Given the description of an element on the screen output the (x, y) to click on. 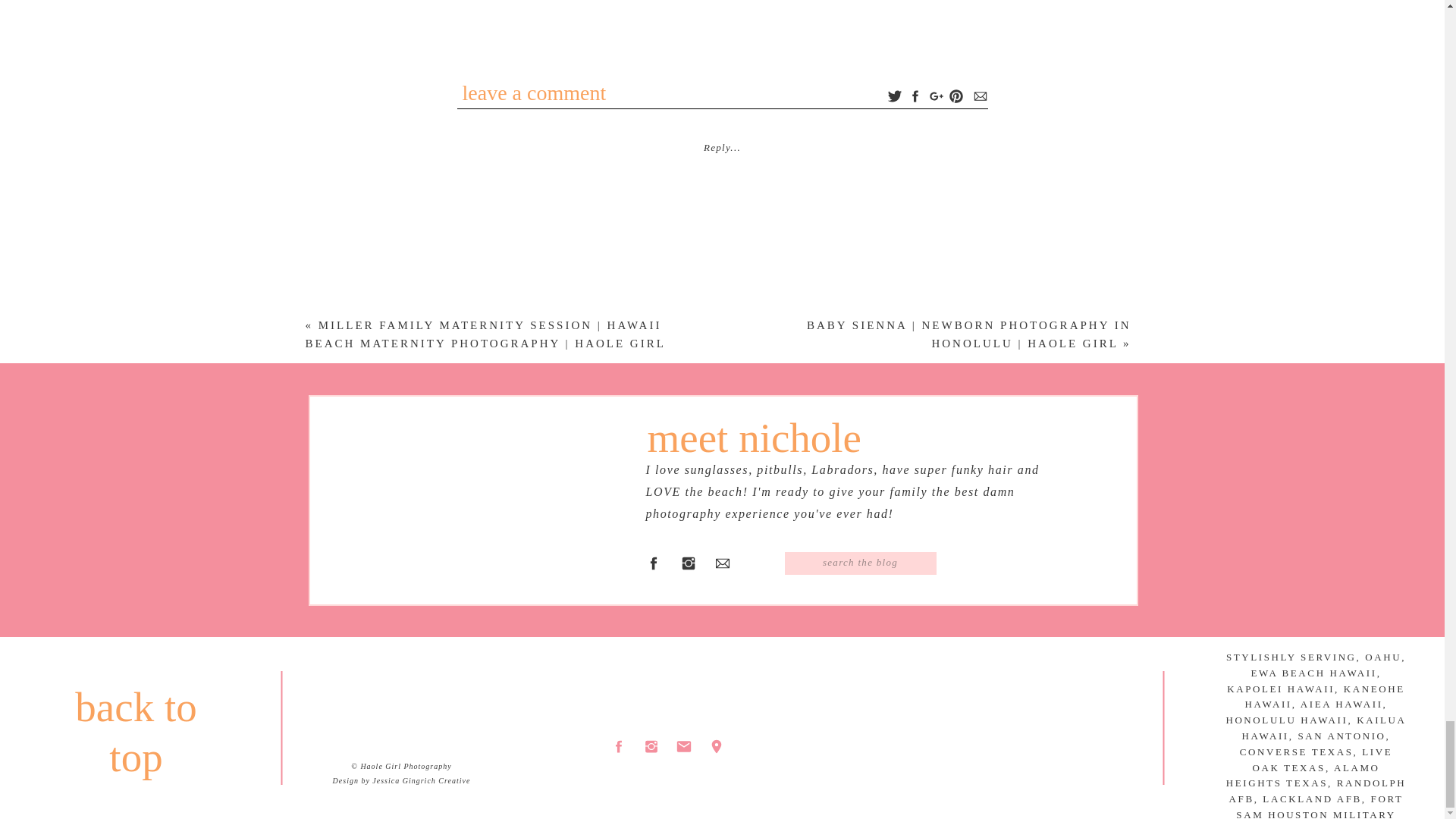
back to top (136, 697)
Design by Jessica Gingrich Creative (401, 780)
